Given the description of an element on the screen output the (x, y) to click on. 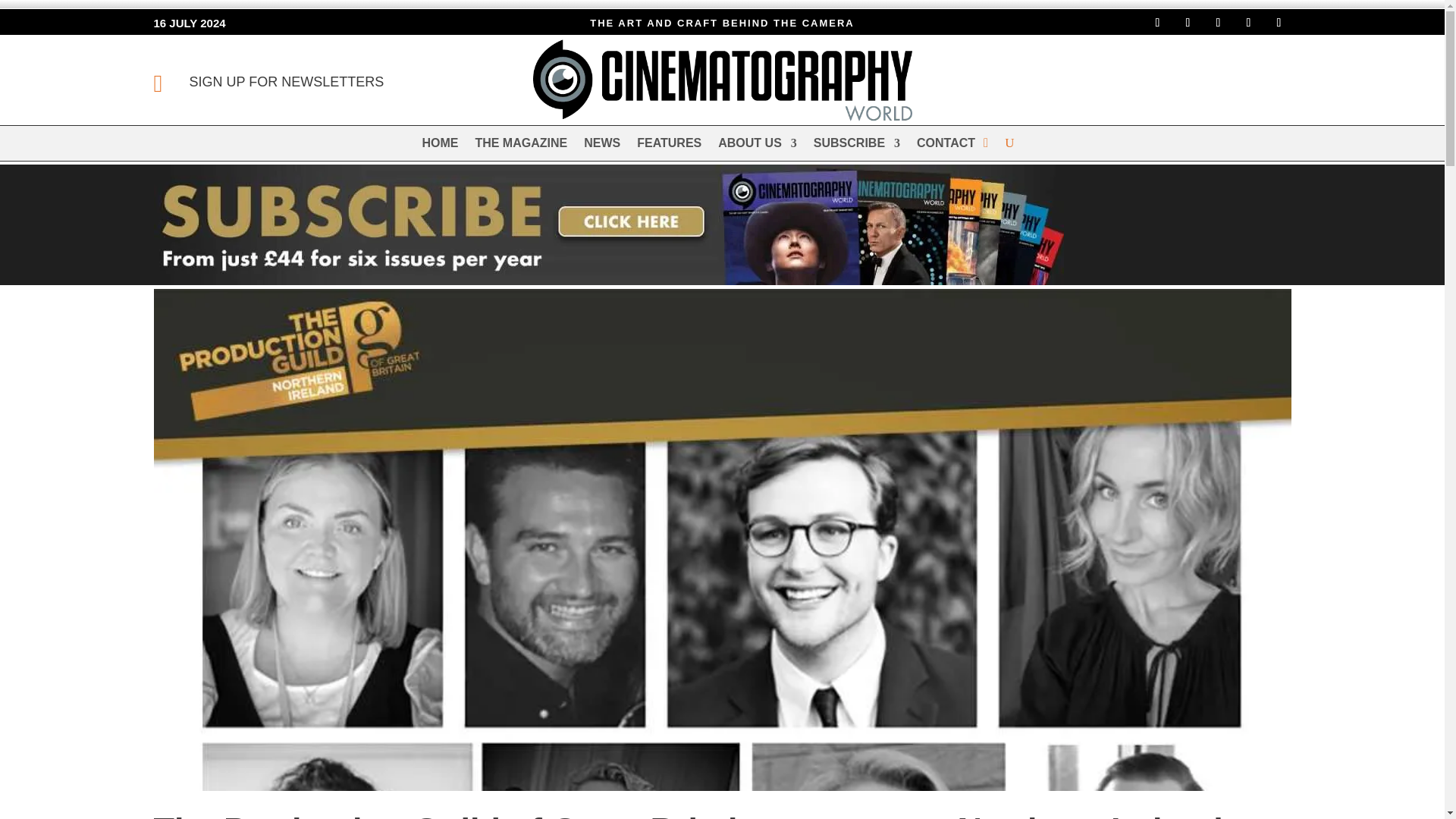
BIG-HOME-SUB-AD (607, 224)
THE MAGAZINE (520, 146)
SUBSCRIBE (856, 146)
ABOUT US (756, 146)
CONTACT (946, 146)
Follow on X (1217, 22)
Follow on LinkedIn (1248, 22)
FEATURES (669, 146)
Follow on Youtube (1278, 22)
CW-masthead (721, 80)
HOME (440, 146)
Follow on Facebook (1156, 22)
NEWS (601, 146)
Follow on Instagram (1186, 22)
